Given the description of an element on the screen output the (x, y) to click on. 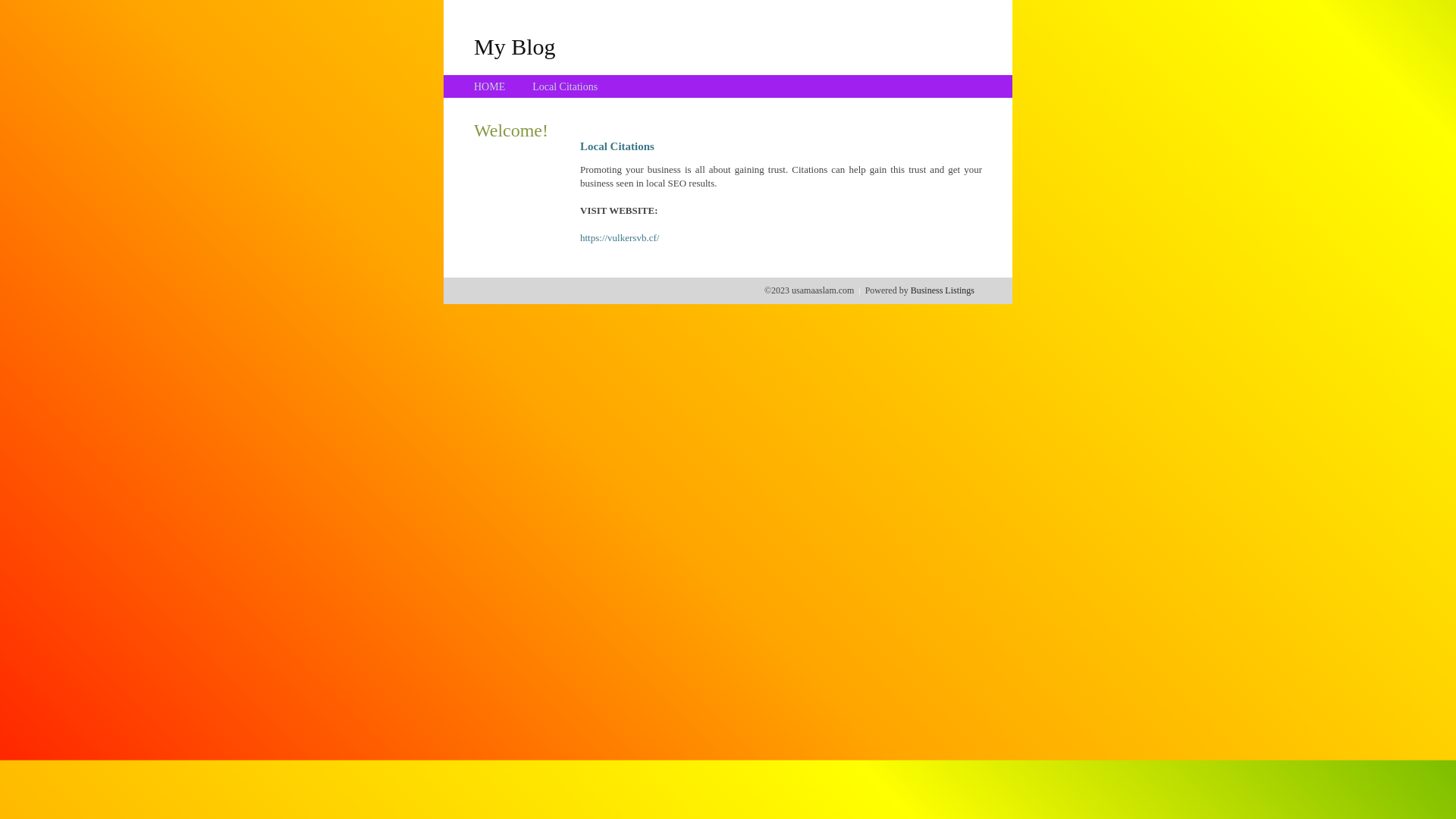
My Blog Element type: text (514, 46)
https://vulkersvb.cf/ Element type: text (619, 237)
Business Listings Element type: text (942, 290)
HOME Element type: text (489, 86)
Local Citations Element type: text (564, 86)
